Given the description of an element on the screen output the (x, y) to click on. 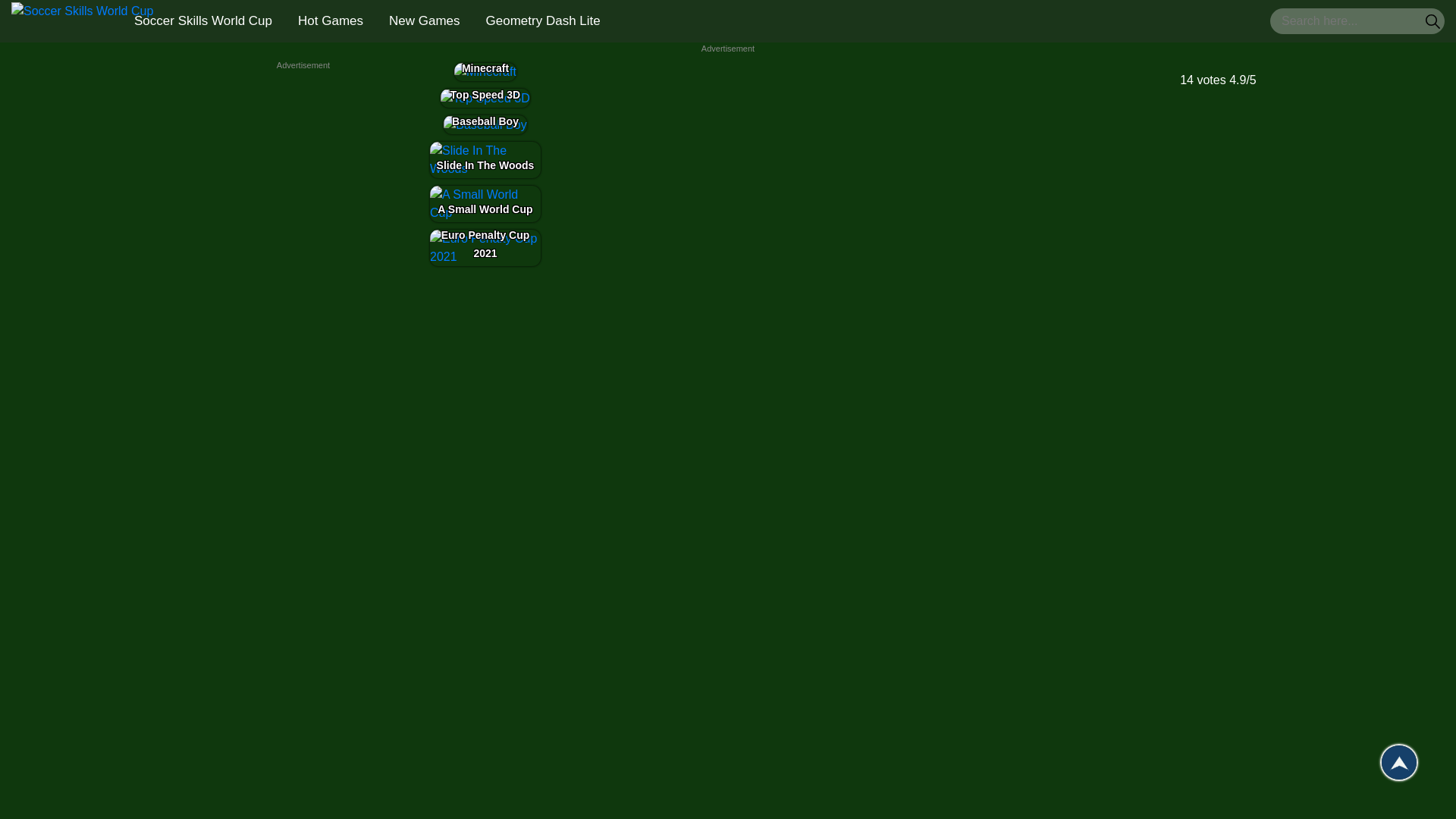
Hot Games (330, 20)
Euro Penalty Cup 2021 (485, 248)
Top Speed 3D (485, 98)
A Small World Cup (484, 203)
Soccer Skills World Cup (81, 21)
Slide In The Woods (485, 159)
Baseball Boy (484, 125)
Soccer Skills World Cup (203, 20)
New Games (424, 20)
Top Speed 3D (484, 97)
